Given the description of an element on the screen output the (x, y) to click on. 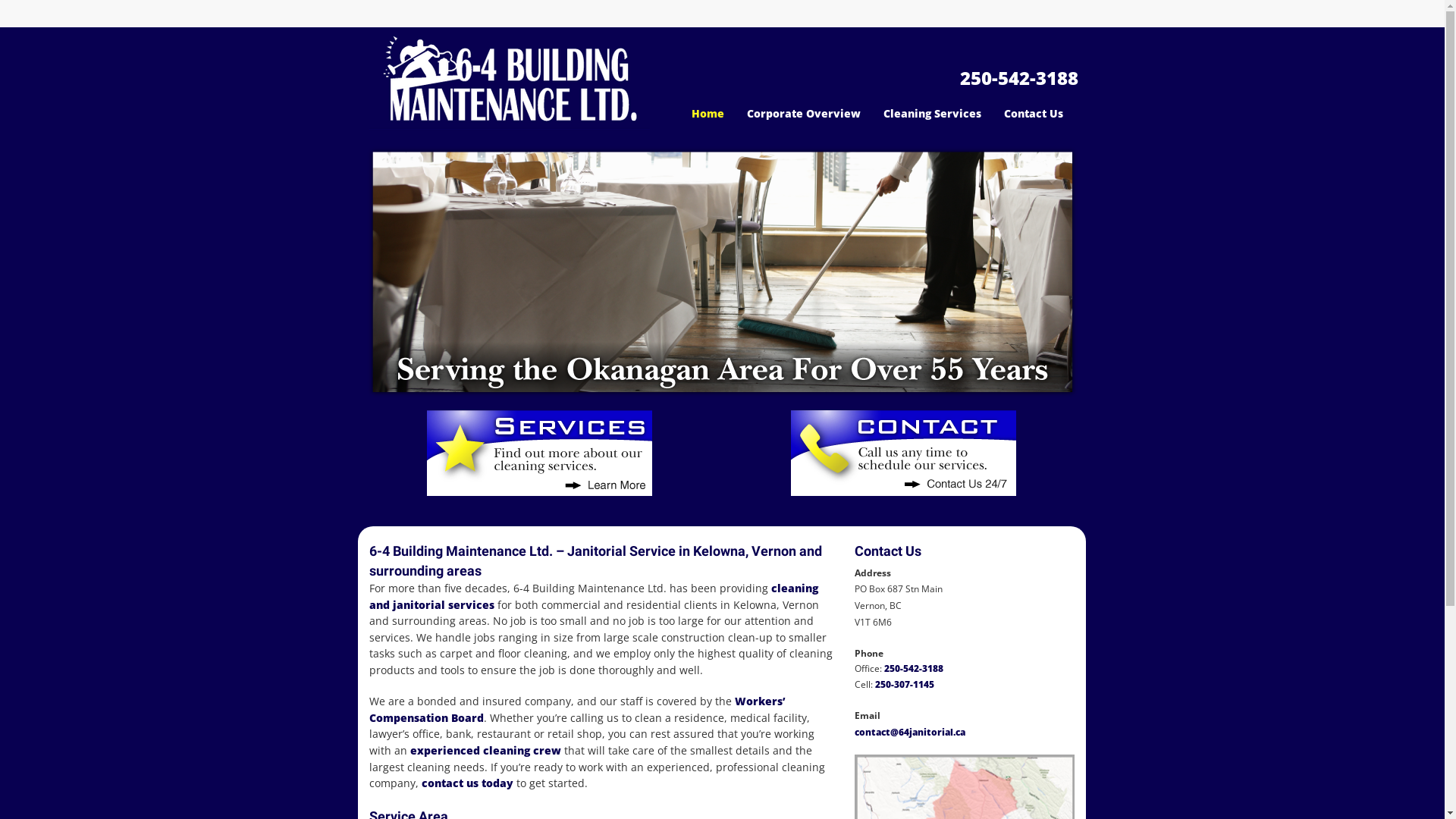
250-542-3188 Element type: text (913, 668)
contact us today Element type: text (468, 782)
contact@64janitorial.ca Element type: text (908, 731)
Corporate Overview Element type: text (803, 113)
experienced cleaning crew Element type: text (486, 750)
Embedded Content Element type: hover (1069, 19)
Embedded Content Element type: hover (943, 22)
250-307-1145 Element type: text (904, 683)
Contact Us Element type: text (1033, 113)
cleaning and janitorial services Element type: text (592, 595)
250-542-3188 Element type: text (1019, 80)
Home Element type: text (707, 113)
Cleaning Services Element type: text (932, 113)
